Given the description of an element on the screen output the (x, y) to click on. 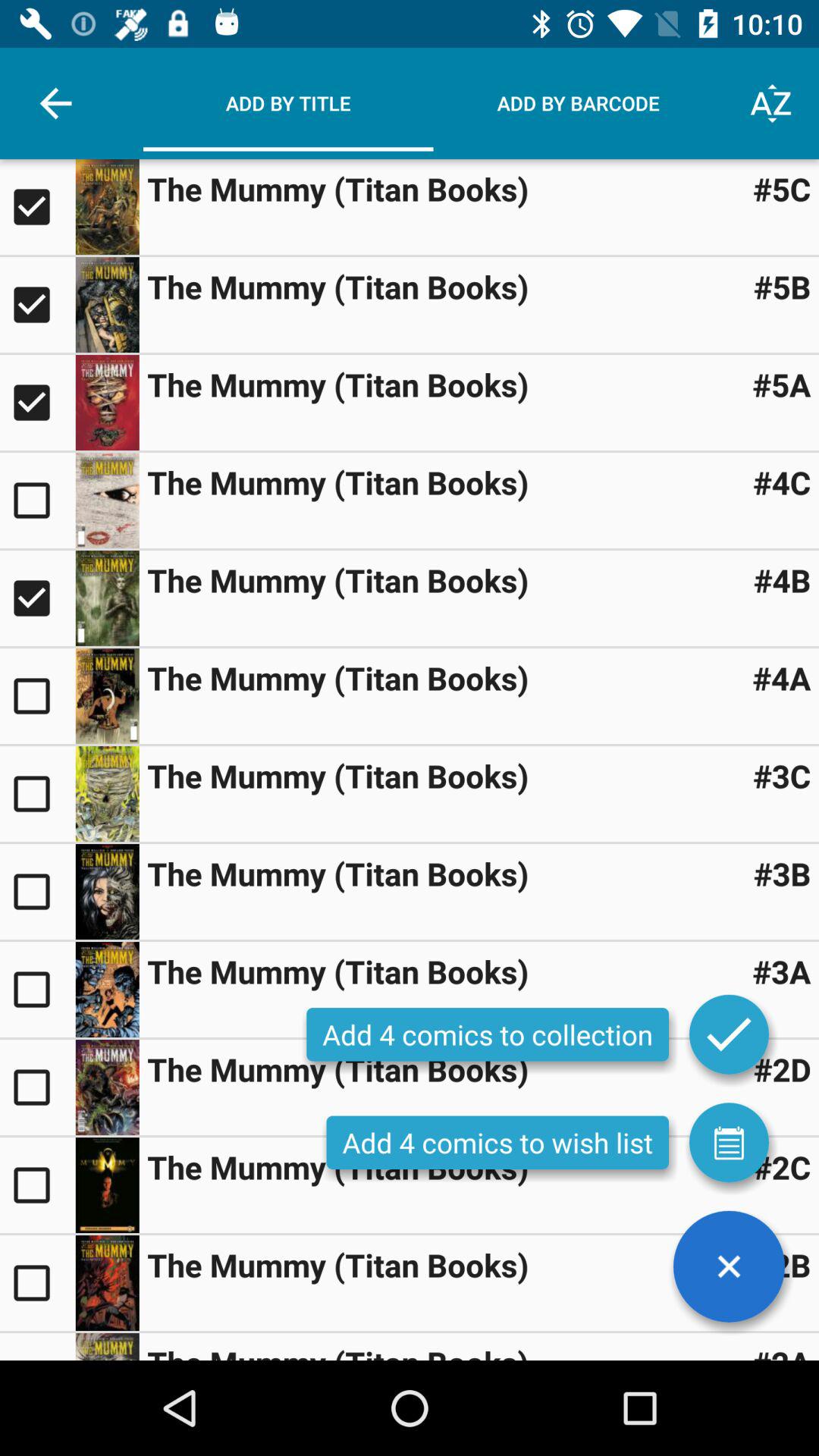
tap the item to the right of the the mummy titan (782, 1264)
